Given the description of an element on the screen output the (x, y) to click on. 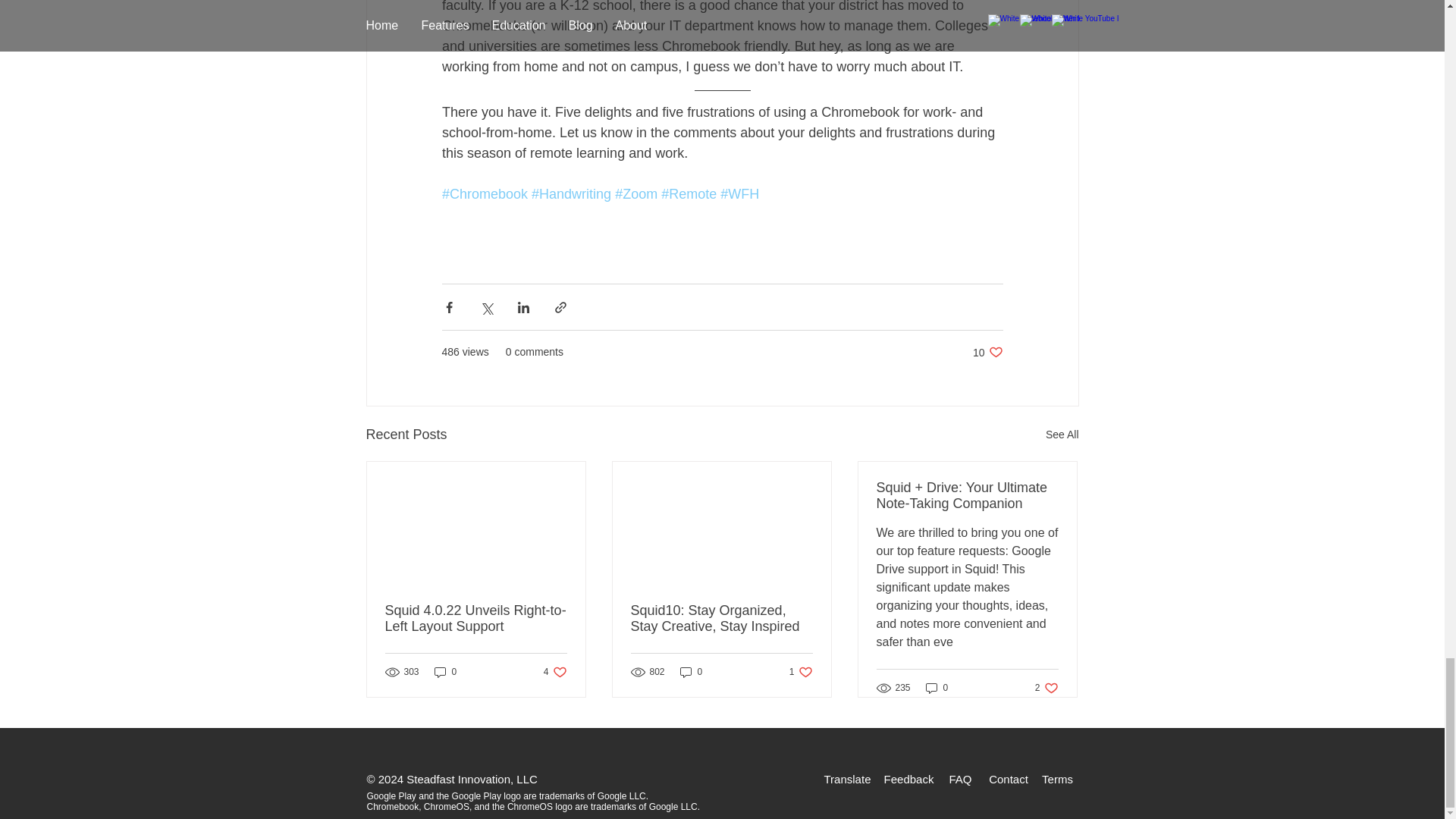
See All (1061, 434)
